Given the description of an element on the screen output the (x, y) to click on. 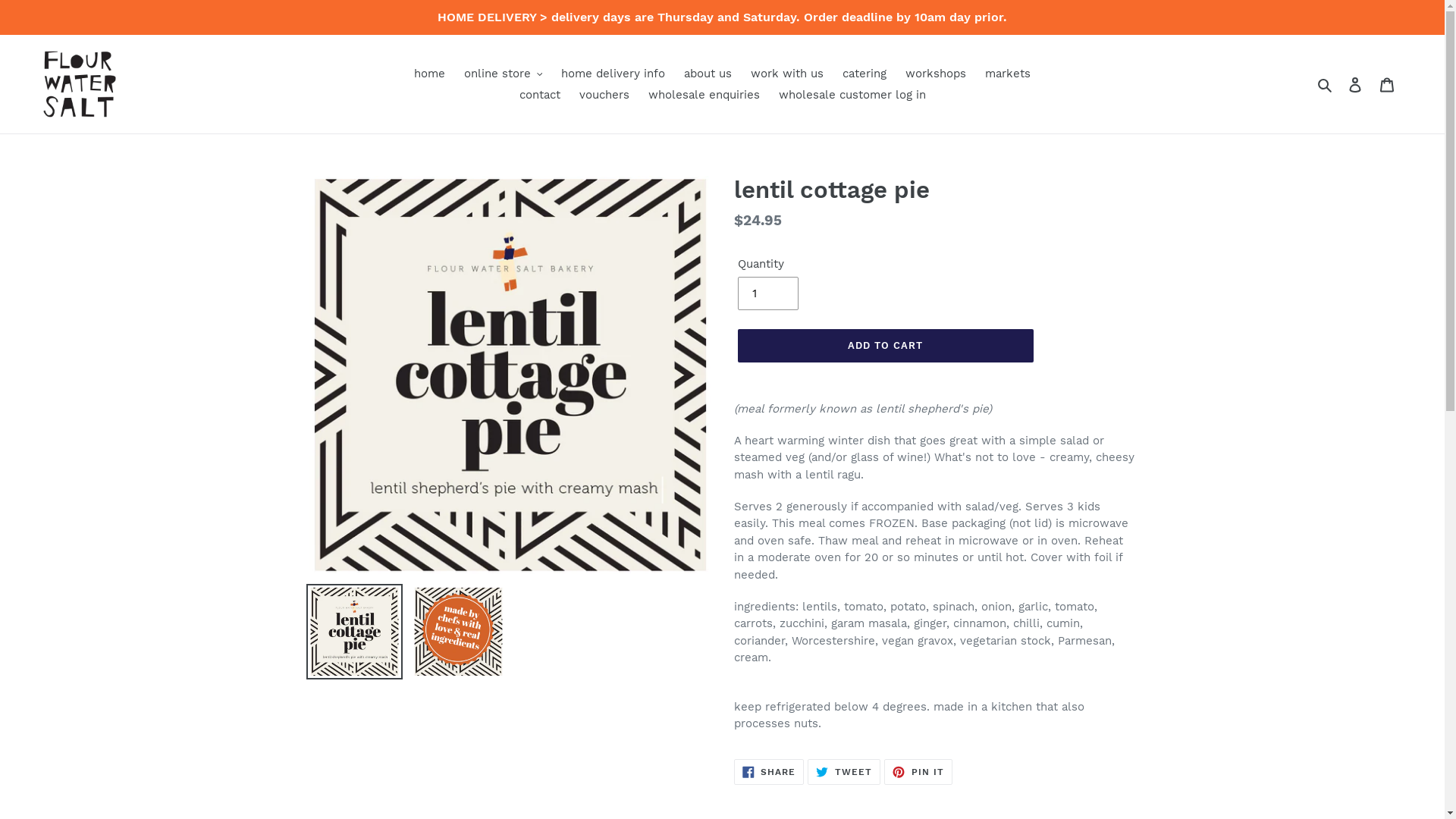
work with us Element type: text (787, 73)
Cart Element type: text (1386, 84)
catering Element type: text (864, 73)
about us Element type: text (707, 73)
workshops Element type: text (935, 73)
markets Element type: text (1007, 73)
PIN IT
PIN ON PINTEREST Element type: text (918, 771)
online store Element type: text (503, 73)
wholesale customer log in Element type: text (851, 95)
SHARE
SHARE ON FACEBOOK Element type: text (769, 771)
Search Element type: text (1325, 84)
contact Element type: text (539, 95)
wholesale enquiries Element type: text (703, 95)
vouchers Element type: text (604, 95)
TWEET
TWEET ON TWITTER Element type: text (843, 771)
home delivery info Element type: text (612, 73)
ADD TO CART Element type: text (884, 345)
home Element type: text (429, 73)
Log in Element type: text (1355, 84)
